Given the description of an element on the screen output the (x, y) to click on. 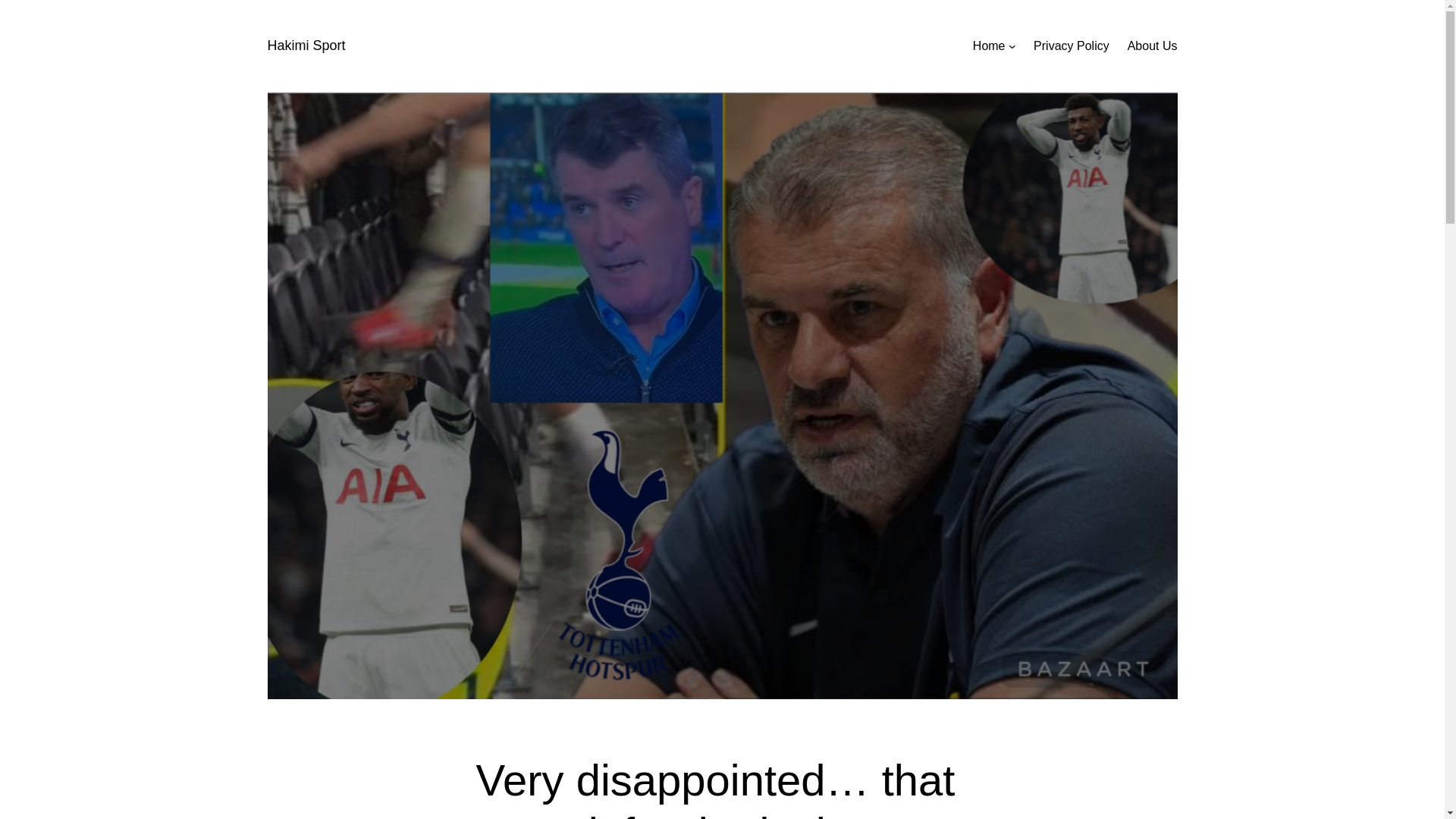
Home (989, 46)
About Us (1151, 46)
Privacy Policy (1071, 46)
Hakimi Sport (305, 45)
